Given the description of an element on the screen output the (x, y) to click on. 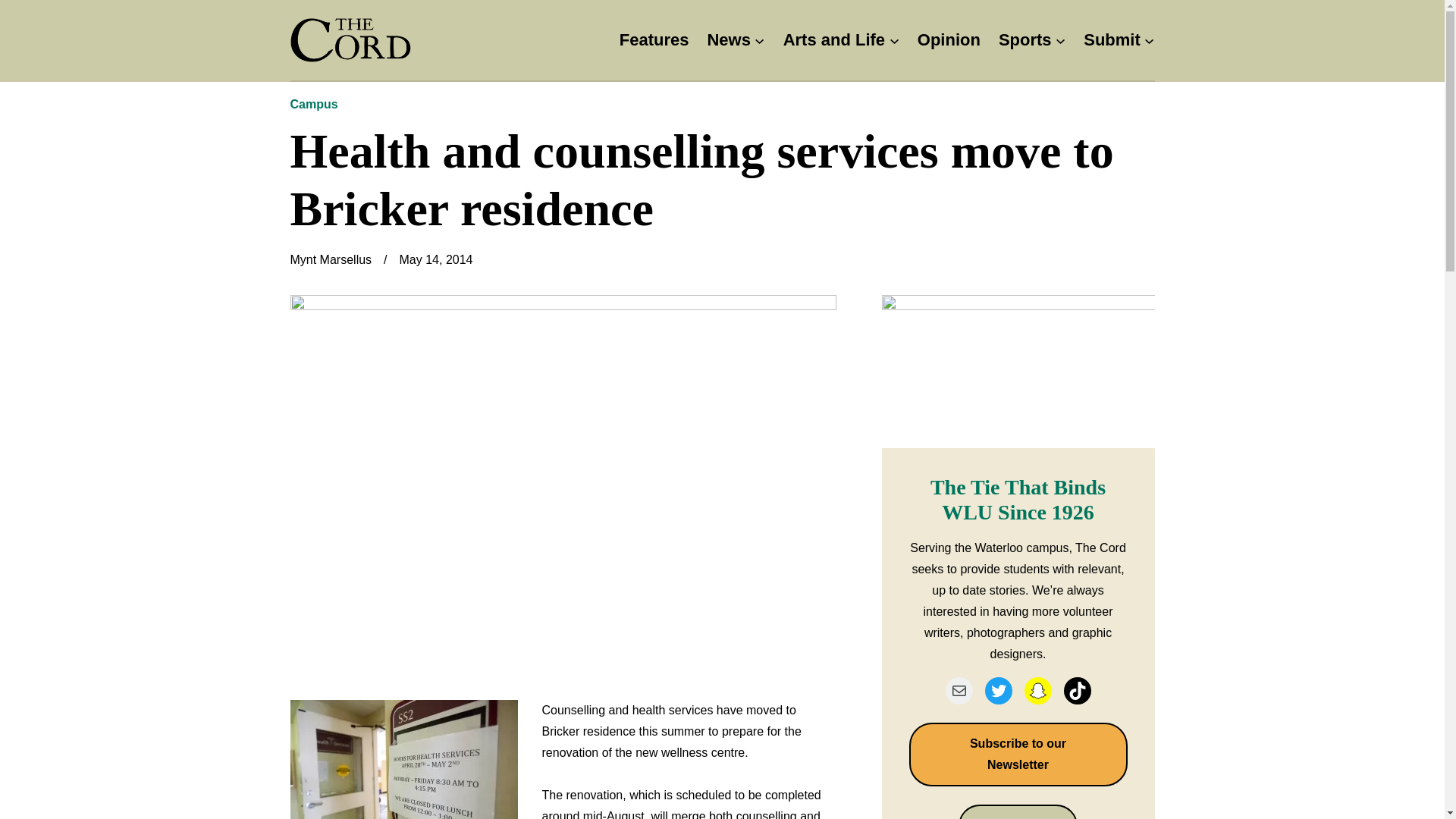
Arts and Life (834, 40)
Campus (313, 103)
Sports (1024, 40)
Features (654, 40)
Opinion (948, 40)
Submit (1111, 40)
News (727, 40)
